Given the description of an element on the screen output the (x, y) to click on. 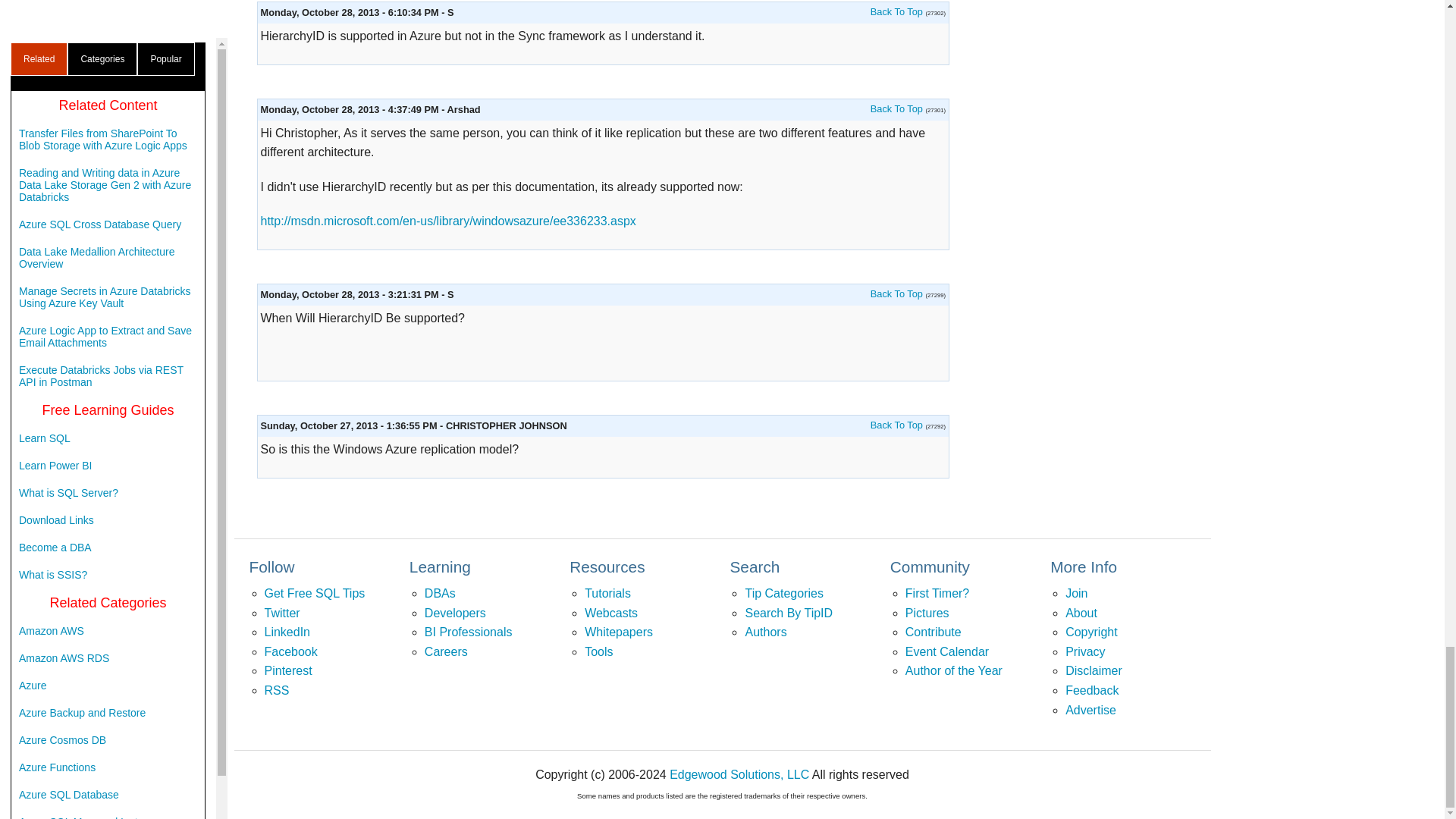
read the tip (896, 11)
read the tip (896, 293)
read the tip (896, 424)
read the tip (896, 108)
